Given the description of an element on the screen output the (x, y) to click on. 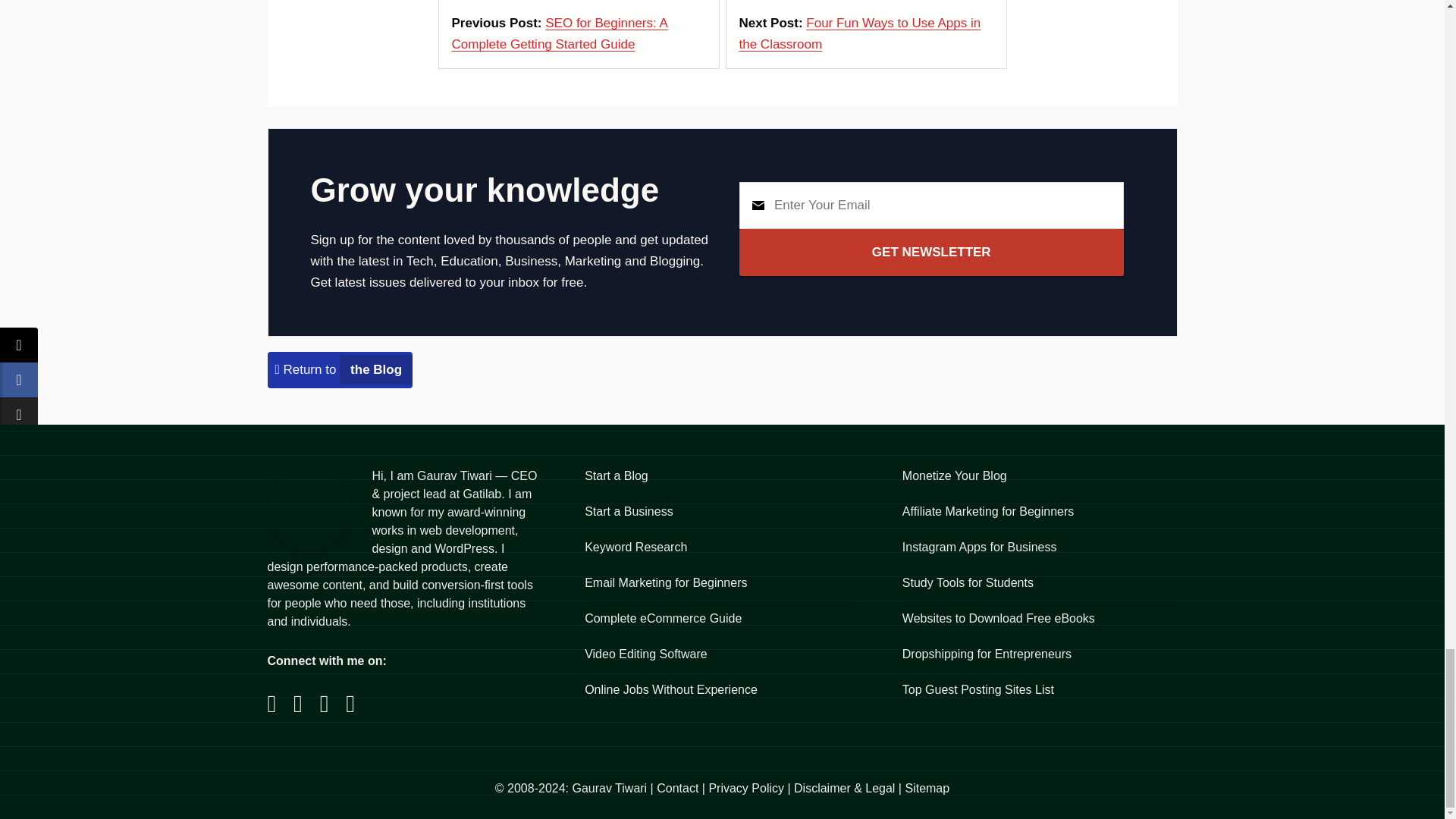
SEO for Beginners: A Complete Getting Started Guide (559, 33)
Get Newsletter (931, 252)
Get Newsletter (931, 252)
Four Fun Ways to Use Apps in the Classroom (858, 33)
Return to the Blog (343, 369)
